Given the description of an element on the screen output the (x, y) to click on. 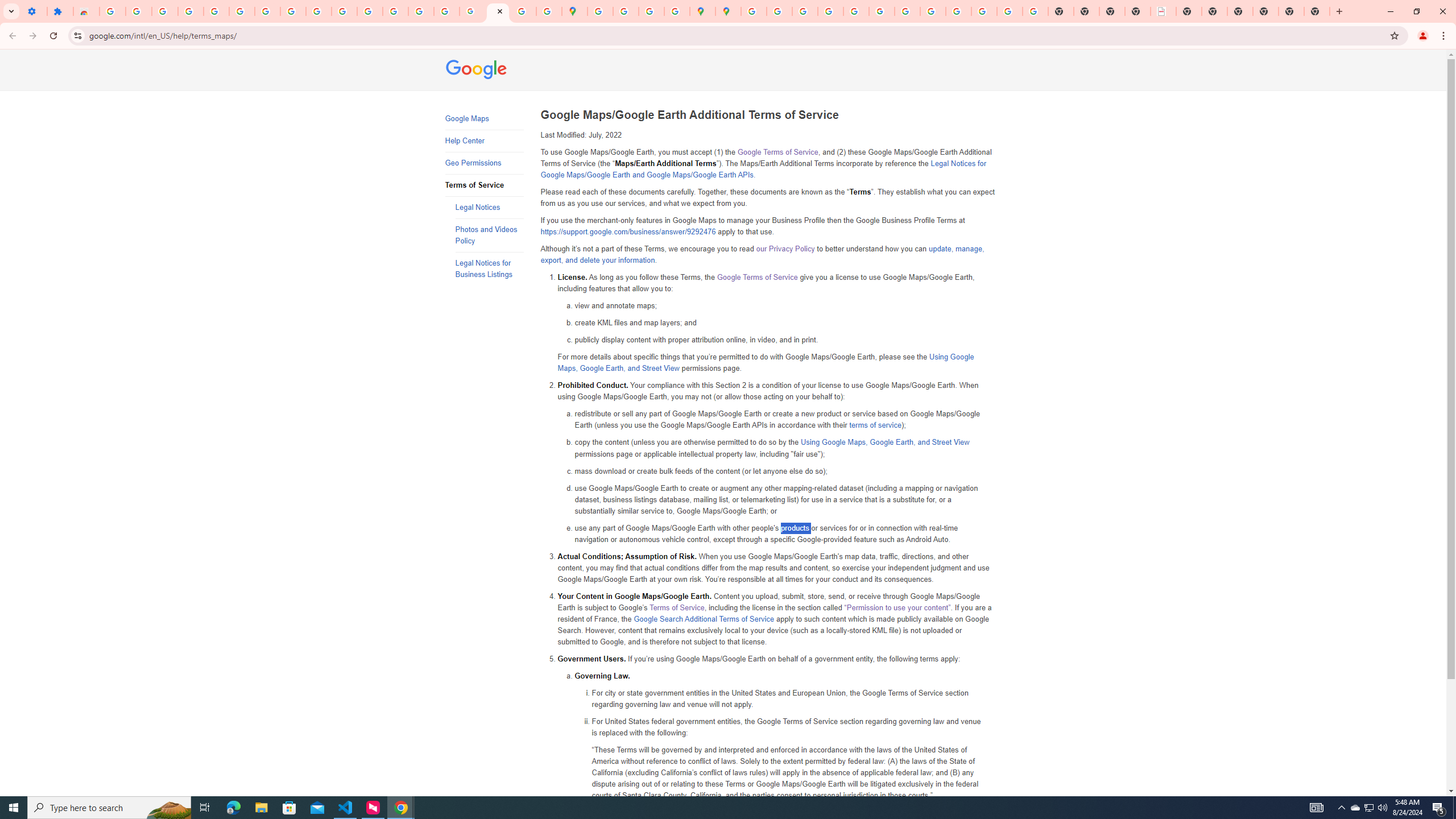
Google Maps (574, 11)
Legal Notices for Business Listings (489, 268)
YouTube (907, 11)
YouTube (318, 11)
Delete photos & videos - Computer - Google Photos Help (165, 11)
Google Maps (484, 118)
Legal Notices (489, 207)
Using Google Maps, Google Earth, and Street View (884, 442)
